Given the description of an element on the screen output the (x, y) to click on. 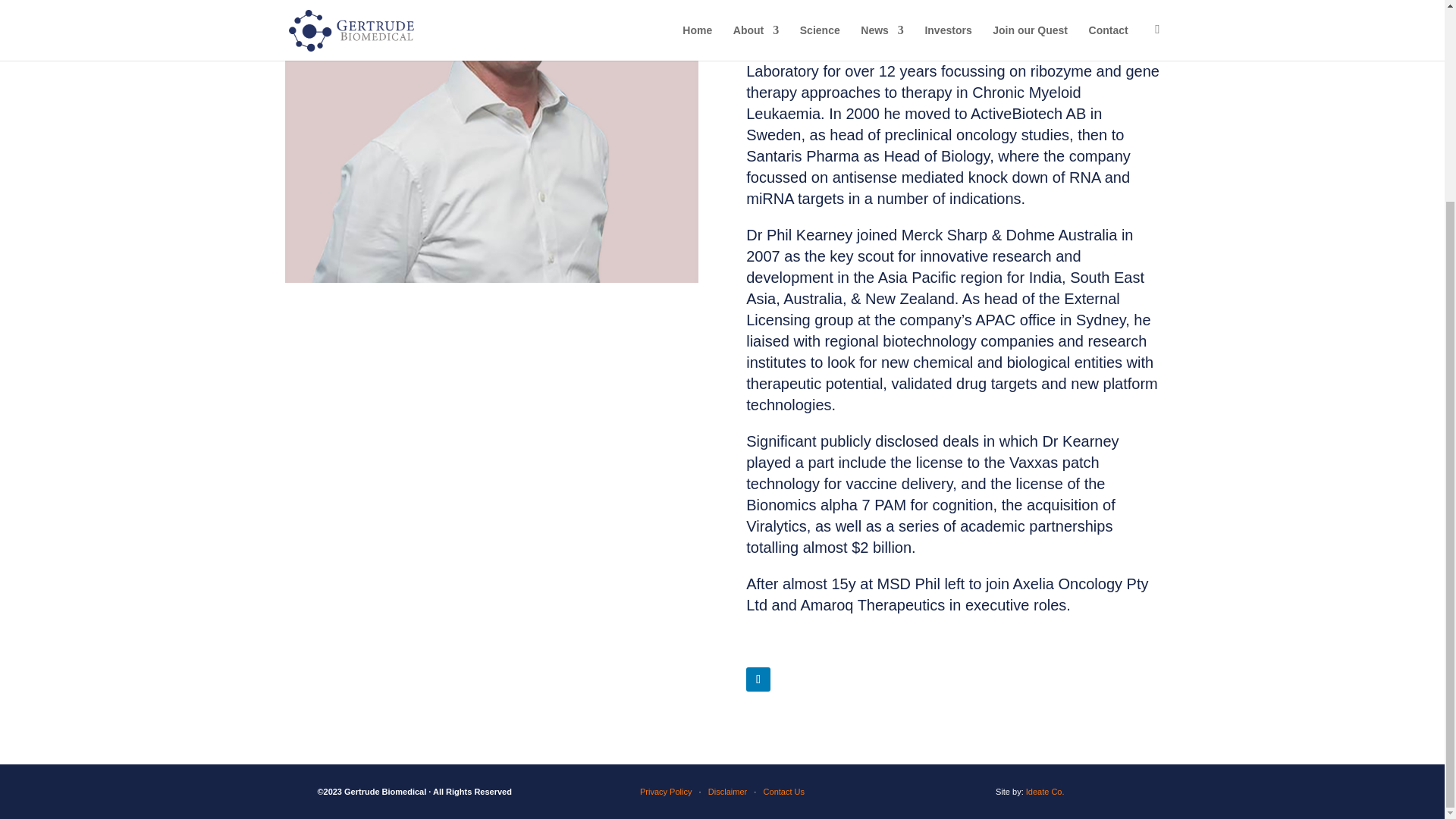
Privacy Policy (665, 791)
Ideate Co. (1045, 791)
Follow on LinkedIn (757, 679)
Contact Us (783, 791)
Disclaimer (726, 791)
